Given the description of an element on the screen output the (x, y) to click on. 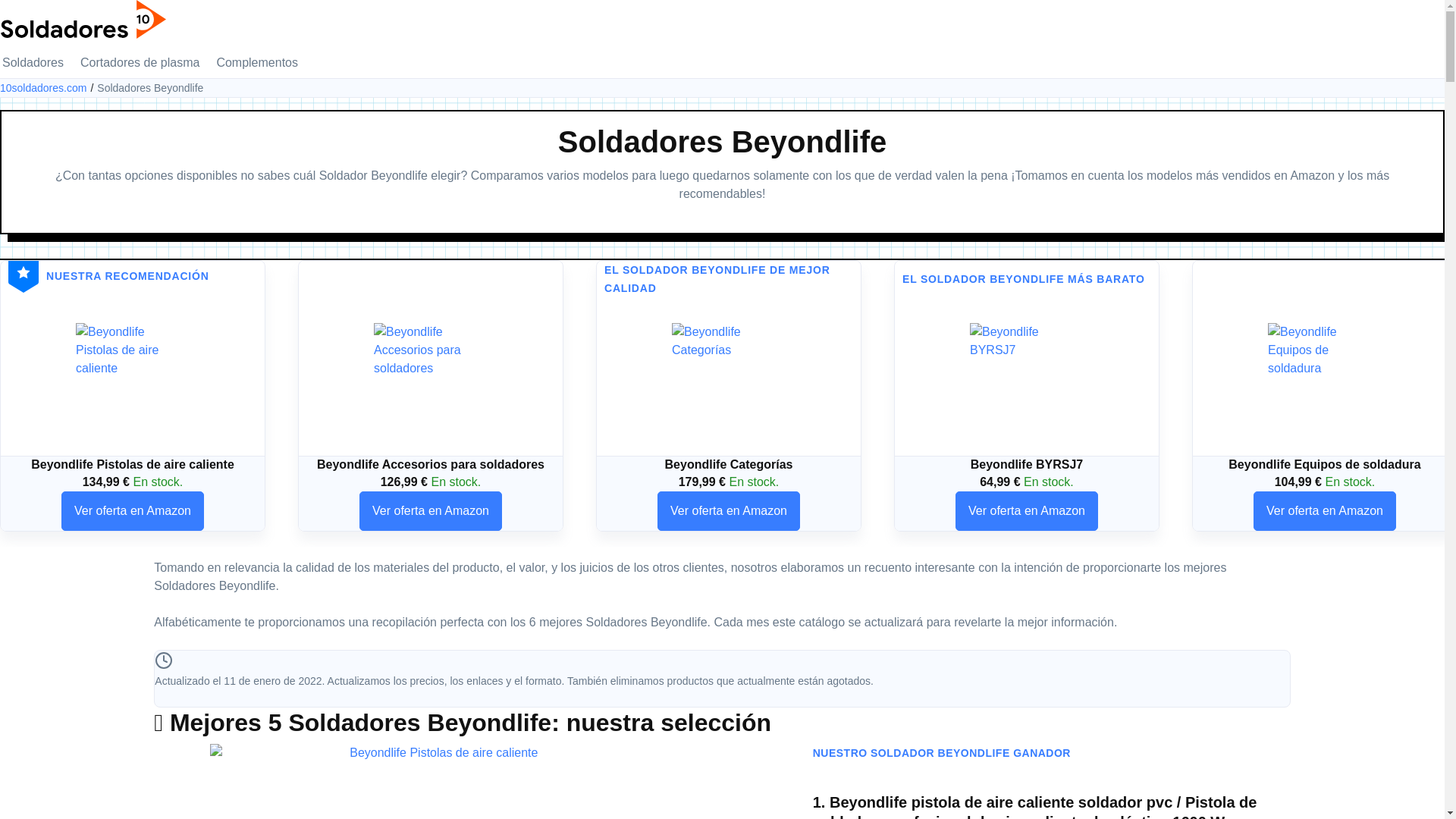
Beyondlife Equipos de soldadura Element type: hover (1324, 379)
Ver oferta en Amazon Element type: text (1324, 510)
Ver oferta en Amazon Element type: text (132, 510)
10soldadores.com Element type: text (48, 87)
Beyondlife Pistolas de aire caliente Element type: hover (132, 379)
Cortadores de plasma Element type: text (139, 62)
Beyondlife Accesorios para soldadores Element type: hover (430, 379)
Beyondlife Pistolas de aire caliente Element type: hover (132, 379)
Beyondlife BYRSJ7 Element type: text (1026, 464)
Ver oferta en Amazon Element type: text (430, 510)
Complementos Element type: text (256, 62)
Beyondlife BYRSJ7 Element type: hover (1026, 379)
Ver oferta en Amazon Element type: text (728, 510)
Soldadores Element type: text (32, 62)
Beyondlife Accesorios para soldadores Element type: text (430, 464)
Ver oferta en Amazon Element type: text (1026, 510)
Volver al inicio Element type: hover (83, 18)
Beyondlife Accesorios para soldadores Element type: hover (430, 379)
Beyondlife BYRSJ7 Element type: hover (1026, 379)
Beyondlife Pistolas de aire caliente Element type: text (132, 464)
